Given the description of an element on the screen output the (x, y) to click on. 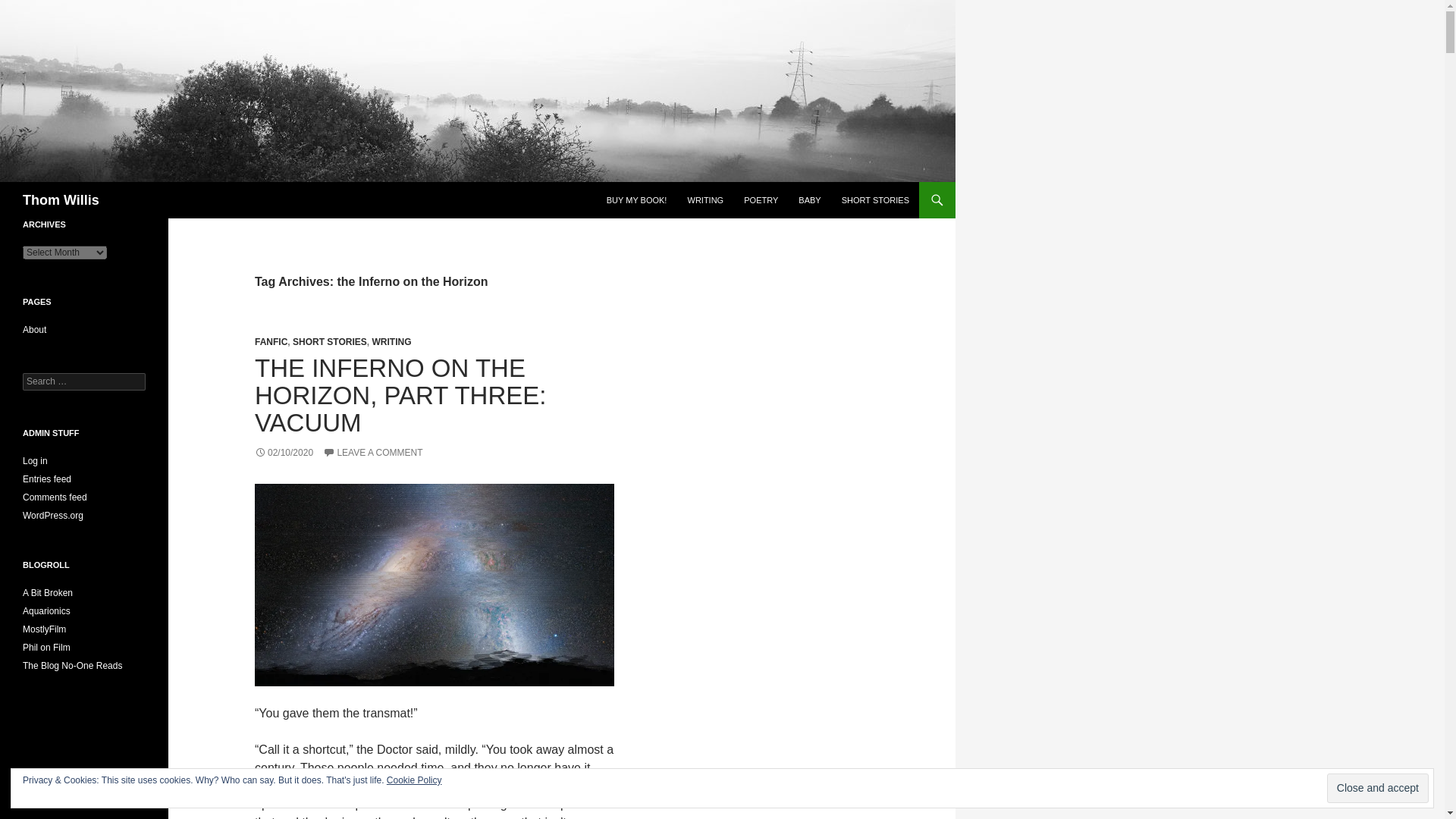
WRITING (390, 341)
SHORT STORIES (329, 341)
My host! This man saved my blogging life. (46, 611)
BABY (809, 199)
LEAVE A COMMENT (372, 452)
FANFIC (270, 341)
Close and accept (1377, 788)
WRITING (705, 199)
POETRY (761, 199)
